Given the description of an element on the screen output the (x, y) to click on. 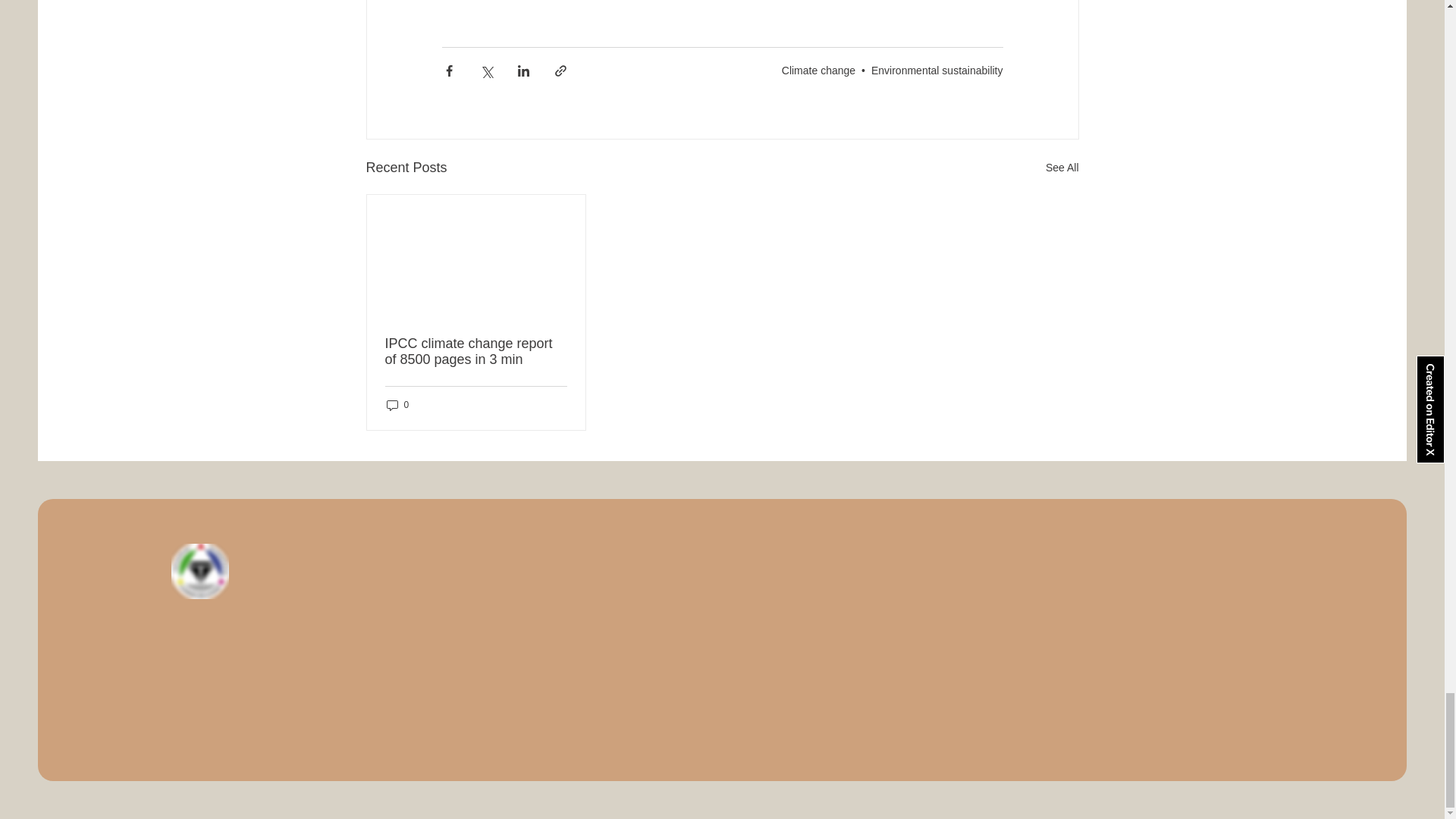
IPCC climate change report of 8500 pages in 3 min (476, 351)
0 (397, 405)
Environmental sustainability (936, 70)
See All (1061, 168)
Climate change (818, 70)
